Given the description of an element on the screen output the (x, y) to click on. 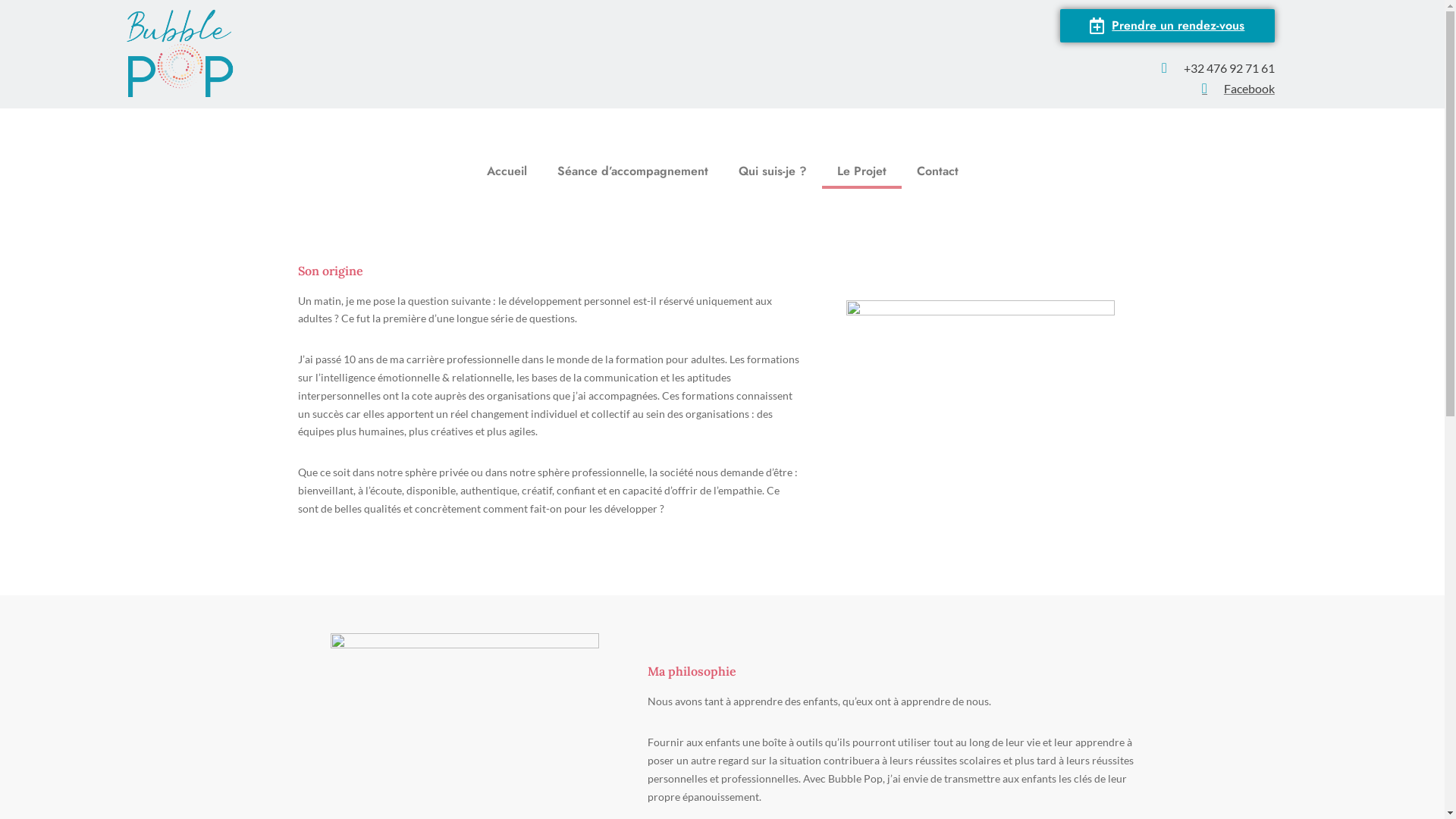
Facebook Element type: text (757, 88)
Prendre un rendez-vous Element type: text (1167, 25)
Qui suis-je ? Element type: text (772, 170)
Contact Element type: text (936, 170)
Le Projet Element type: text (861, 170)
Aller au contenu Element type: text (11, 31)
Accueil Element type: text (506, 170)
